Given the description of an element on the screen output the (x, y) to click on. 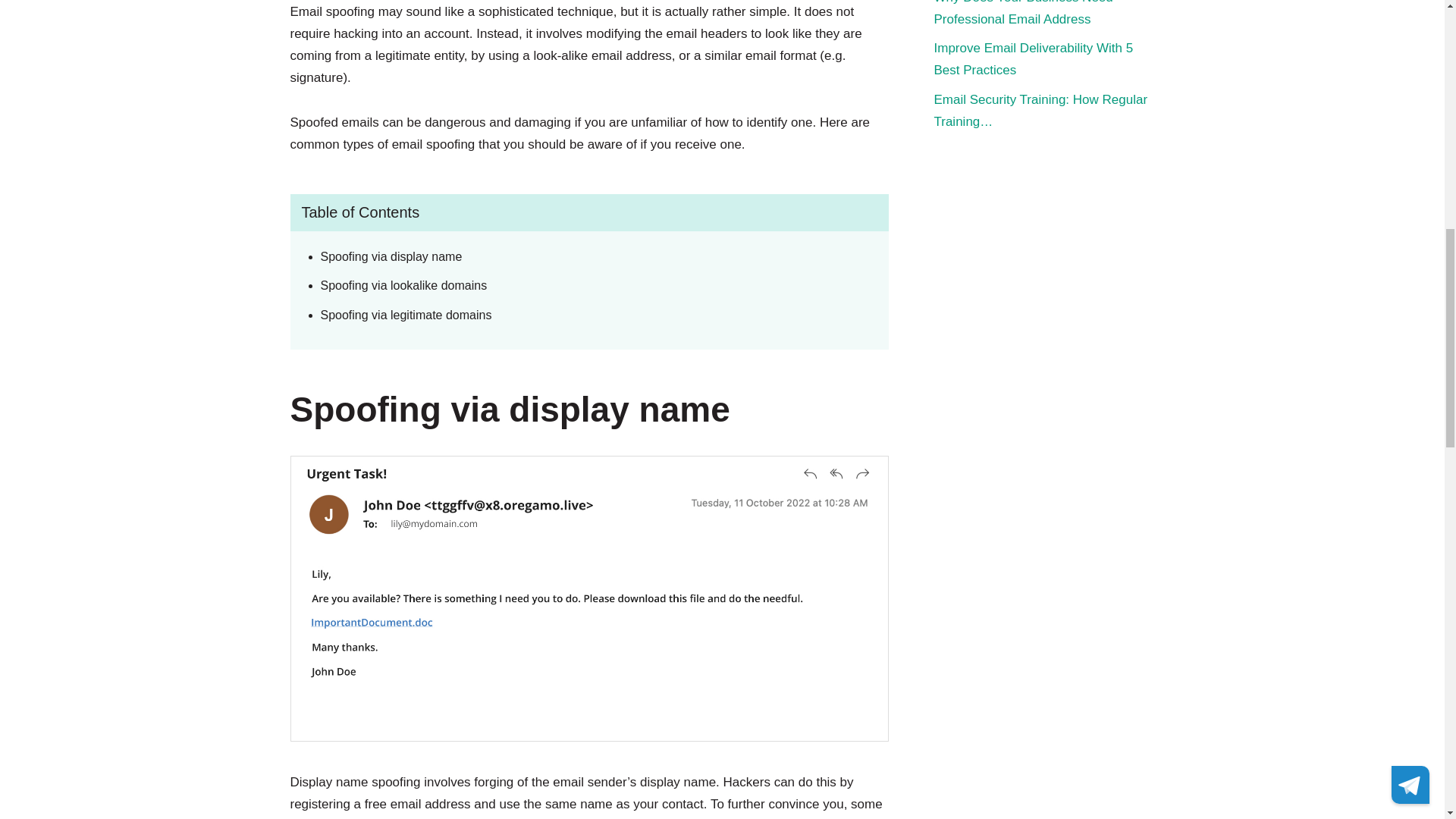
Spoofing via display name (581, 256)
Spoofing via lookalike domains (581, 286)
Spoofing via legitimate domains (581, 315)
